Given the description of an element on the screen output the (x, y) to click on. 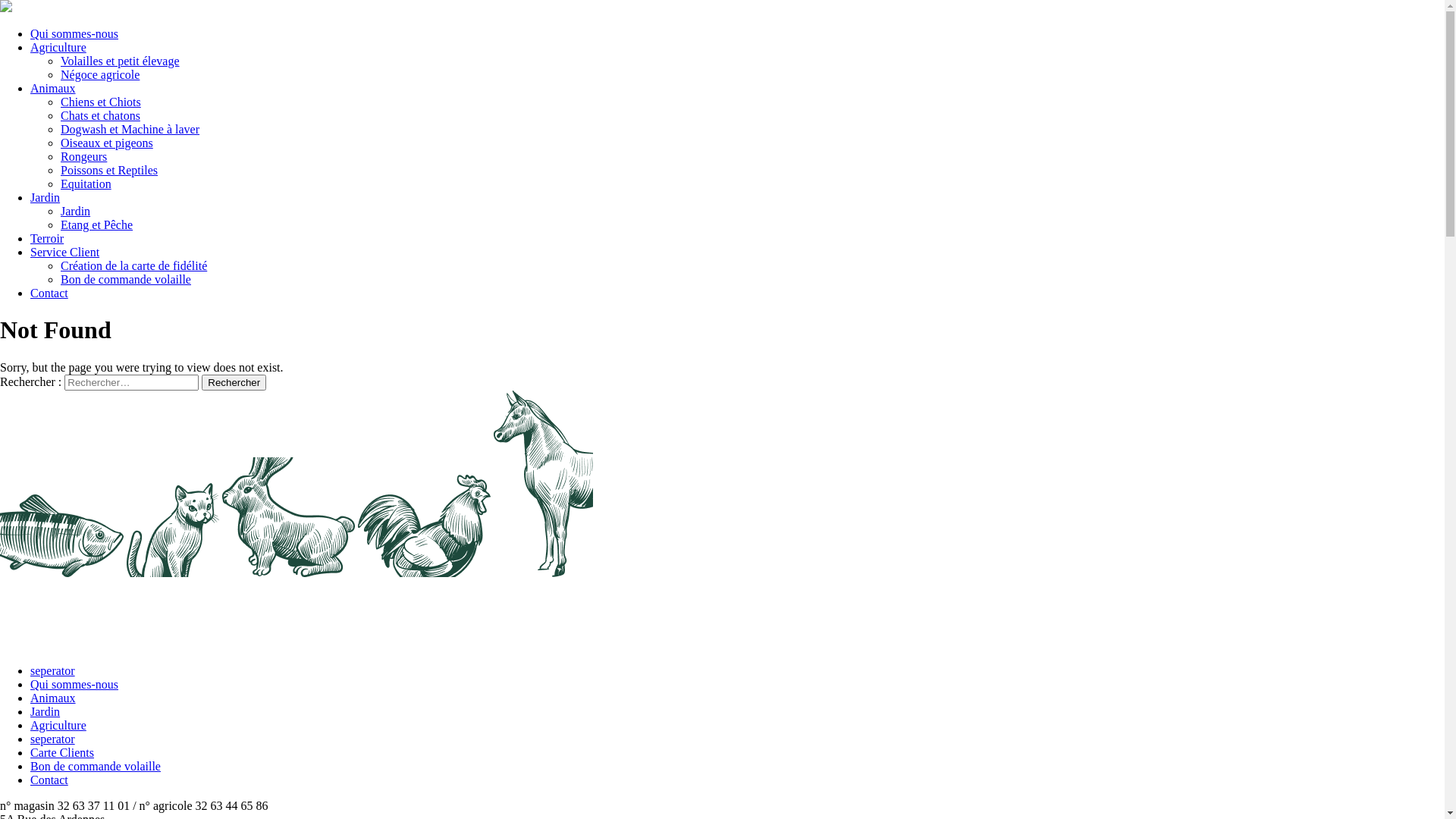
Qui sommes-nous Element type: text (74, 33)
Agriculture Element type: text (58, 46)
Contact Element type: text (49, 292)
Rongeurs Element type: text (83, 156)
seperator Element type: text (52, 738)
Chiens et Chiots Element type: text (100, 101)
Oiseaux et pigeons Element type: text (106, 142)
Chats et chatons Element type: text (100, 115)
Rechercher Element type: text (233, 382)
Agriculture Element type: text (58, 724)
Qui sommes-nous Element type: text (74, 683)
Service Client Element type: text (64, 251)
Bon de commande volaille Element type: text (125, 279)
Animaux Element type: text (52, 697)
Contact Element type: text (49, 779)
Bon de commande volaille Element type: text (95, 765)
Equitation Element type: text (85, 183)
Jardin Element type: text (44, 197)
Jardin Element type: text (75, 210)
Jardin Element type: text (44, 711)
Animaux Element type: text (52, 87)
Poissons et Reptiles Element type: text (108, 169)
Carte Clients Element type: text (62, 752)
seperator Element type: text (52, 670)
Terroir Element type: text (46, 238)
